Given the description of an element on the screen output the (x, y) to click on. 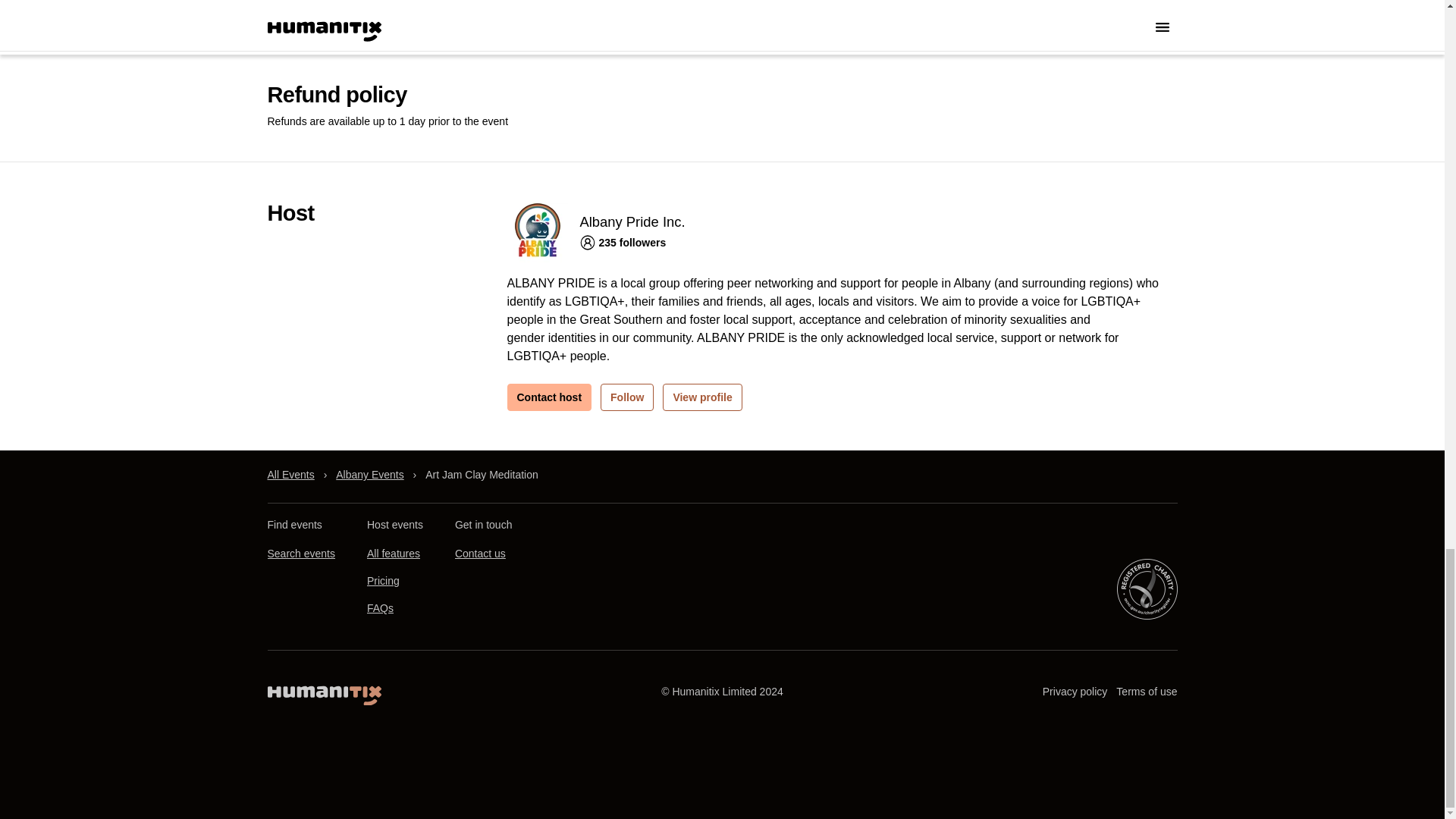
Privacy policy (1075, 691)
Albany Events (370, 474)
Contact host (548, 397)
Contact us (479, 554)
All Events (290, 474)
Search events (300, 554)
View profile (701, 397)
All features (393, 554)
FAQs (379, 608)
Pricing (382, 581)
